Given the description of an element on the screen output the (x, y) to click on. 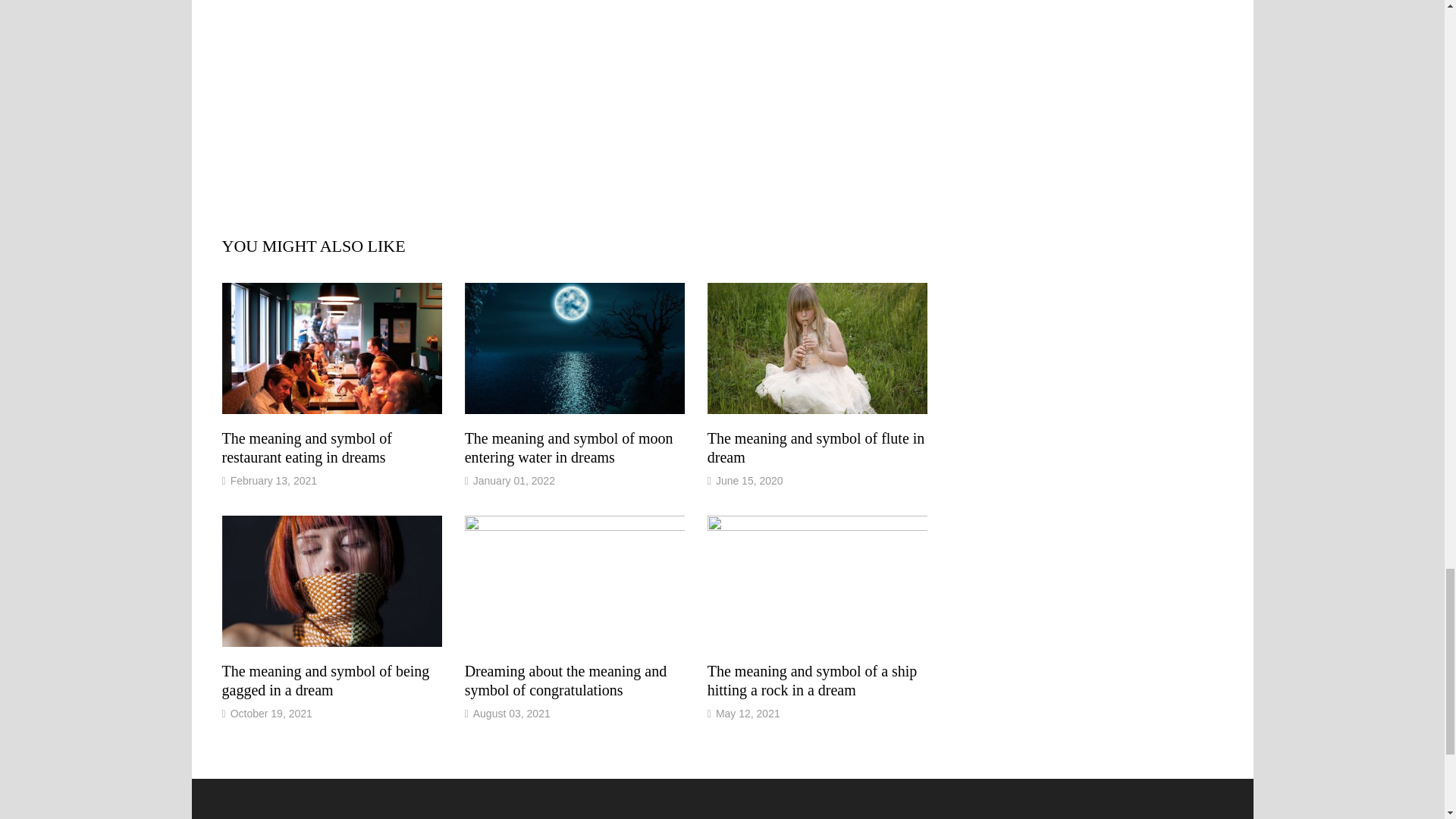
October 19, 2021 (271, 713)
The meaning and symbol of moon entering water in dreams (568, 447)
The meaning and symbol of a ship hitting a rock in a dream (812, 680)
The meaning and symbol of being gagged in a dream (325, 680)
The meaning and symbol of restaurant eating in dreams (306, 447)
January 01, 2022 (513, 480)
June 15, 2020 (749, 480)
The meaning and symbol of moon entering water in dreams (568, 447)
Dreaming about the meaning and symbol of congratulations (565, 680)
The meaning and symbol of flute in dream (815, 447)
